Given the description of an element on the screen output the (x, y) to click on. 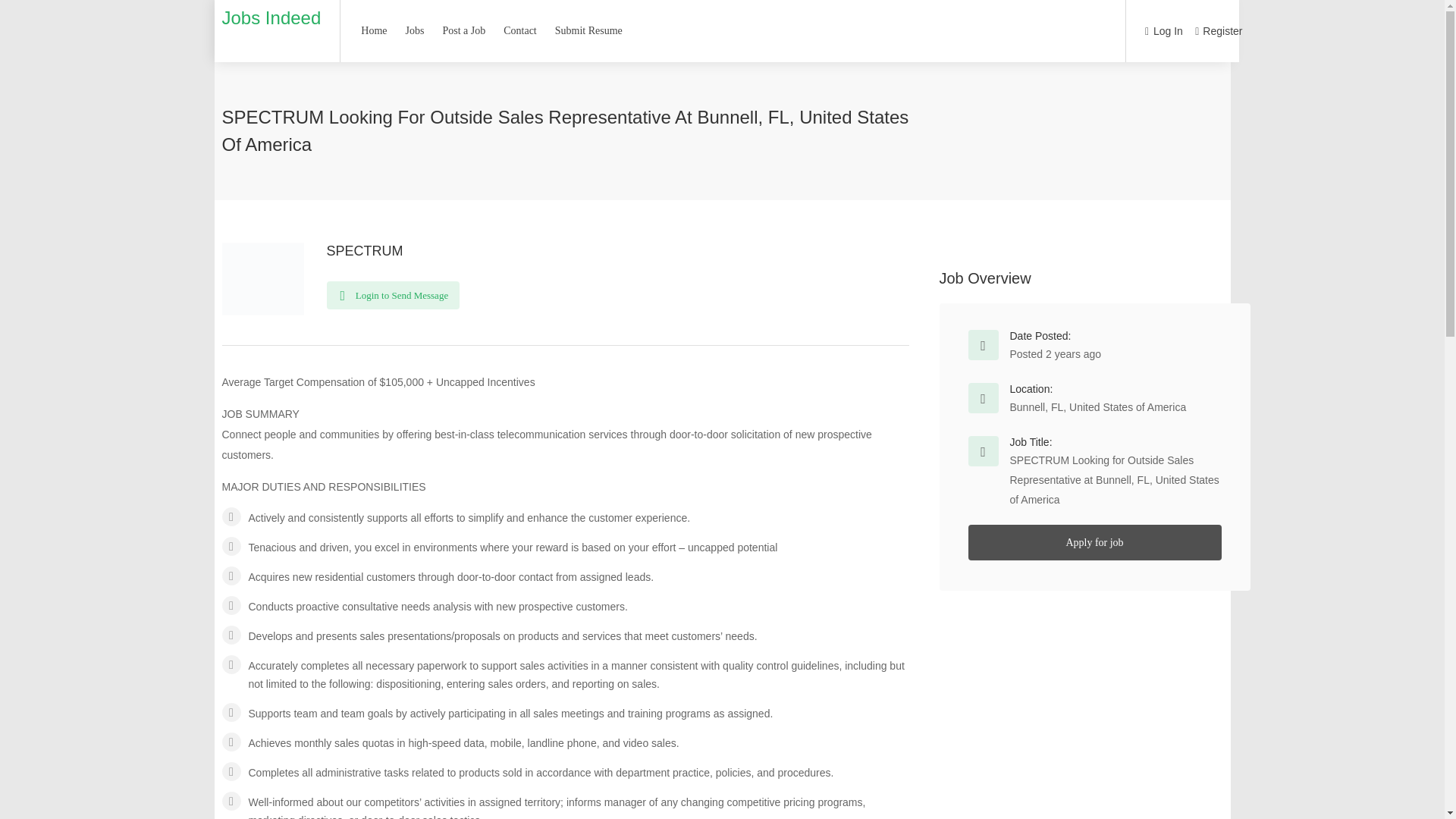
Jobs Indeed (270, 17)
Home (373, 30)
Jobs Indeed (270, 17)
Submit Resume (588, 30)
Jobs (414, 30)
Contact (519, 30)
Post a Job (463, 30)
Login to Send Message (393, 295)
